Given the description of an element on the screen output the (x, y) to click on. 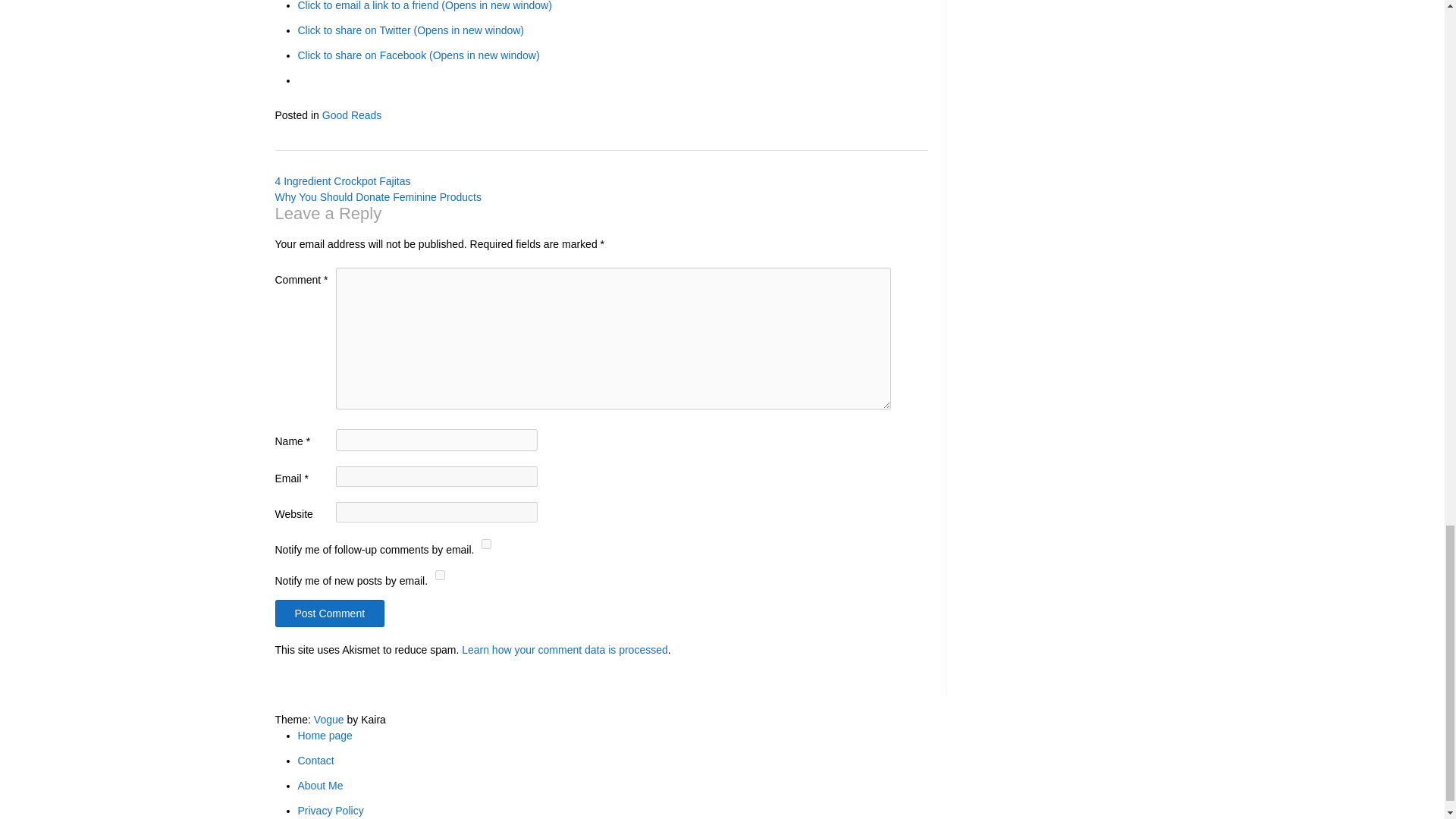
Click to email a link to a friend (424, 5)
Learn how your comment data is processed (564, 649)
Click to share on Twitter (410, 30)
4 Ingredient Crockpot Fajitas (342, 181)
subscribe (486, 543)
Post Comment (329, 613)
Click to share on Facebook (417, 55)
subscribe (440, 574)
Good Reads (351, 114)
Post Comment (329, 613)
